Given the description of an element on the screen output the (x, y) to click on. 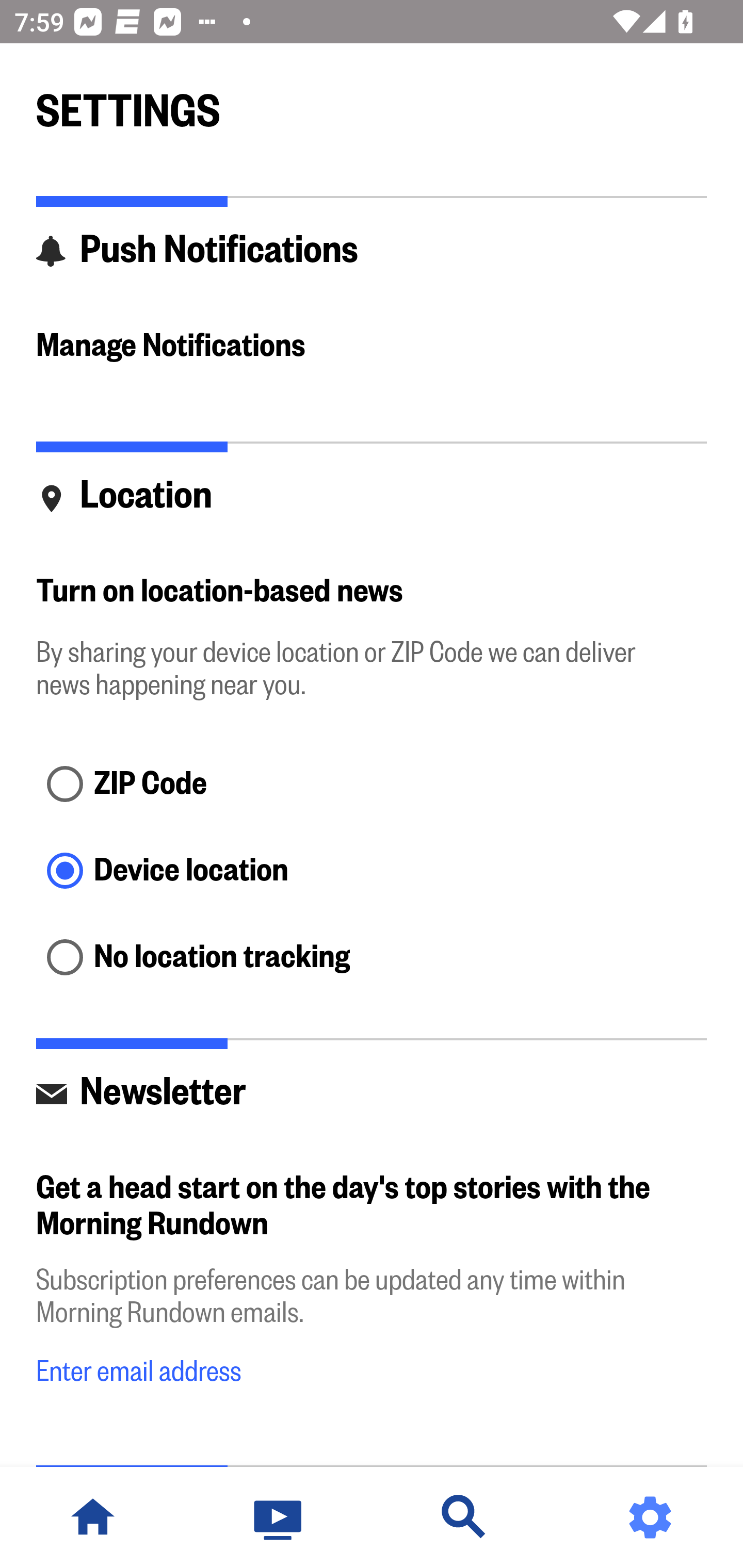
SETTINGS (371, 101)
Manage Notifications (371, 346)
ZIP Code (371, 785)
Device location (371, 872)
No location tracking (371, 958)
NBC News Home (92, 1517)
Watch (278, 1517)
Discover (464, 1517)
